Given the description of an element on the screen output the (x, y) to click on. 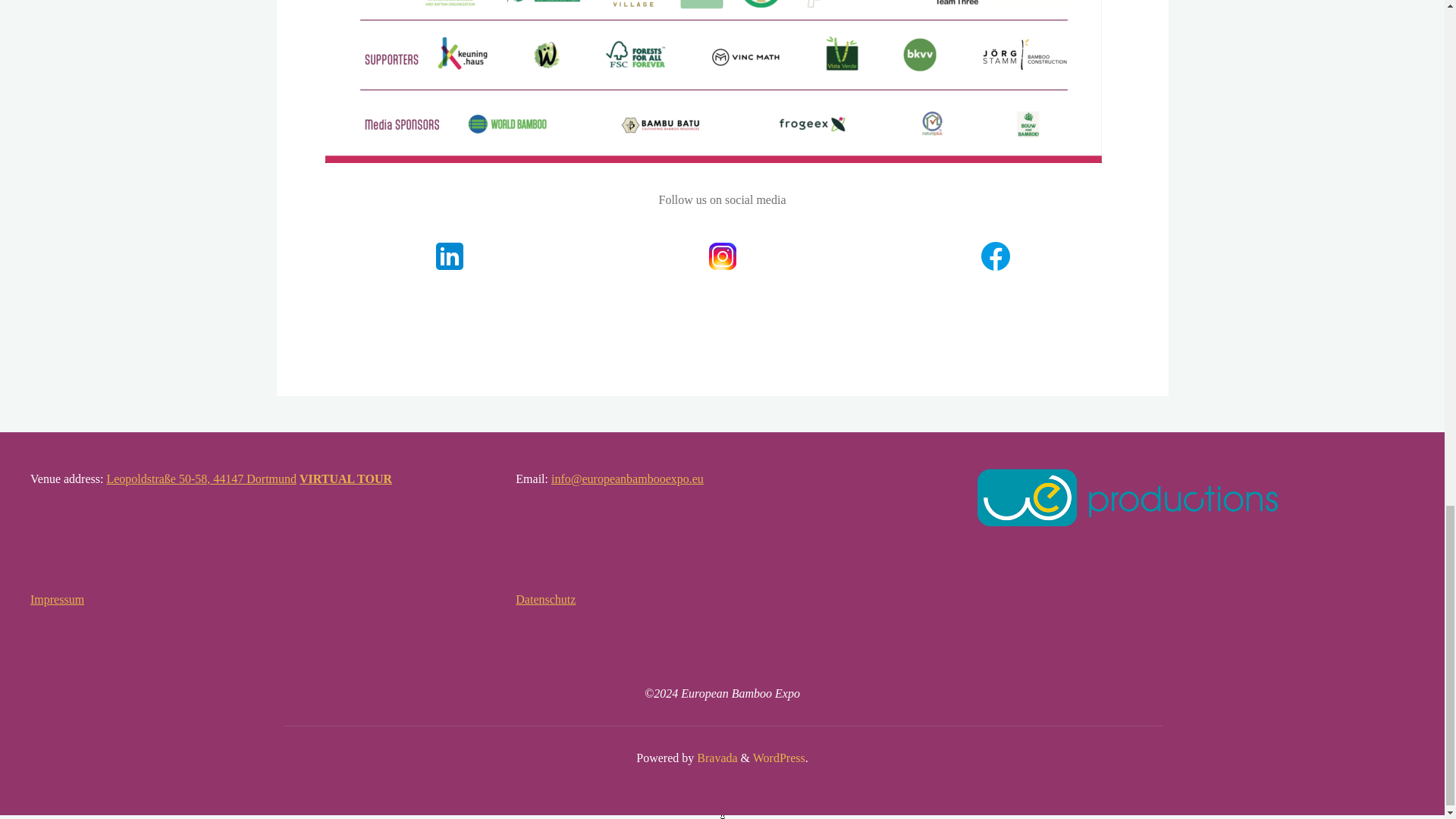
Bravada WordPress Theme by Cryout Creations (715, 757)
Datenschutz (545, 599)
Impressum (57, 599)
WordPress (778, 757)
Semantic Personal Publishing Platform (778, 757)
Bravada (715, 757)
VIRTUAL TOUR (345, 478)
